Given the description of an element on the screen output the (x, y) to click on. 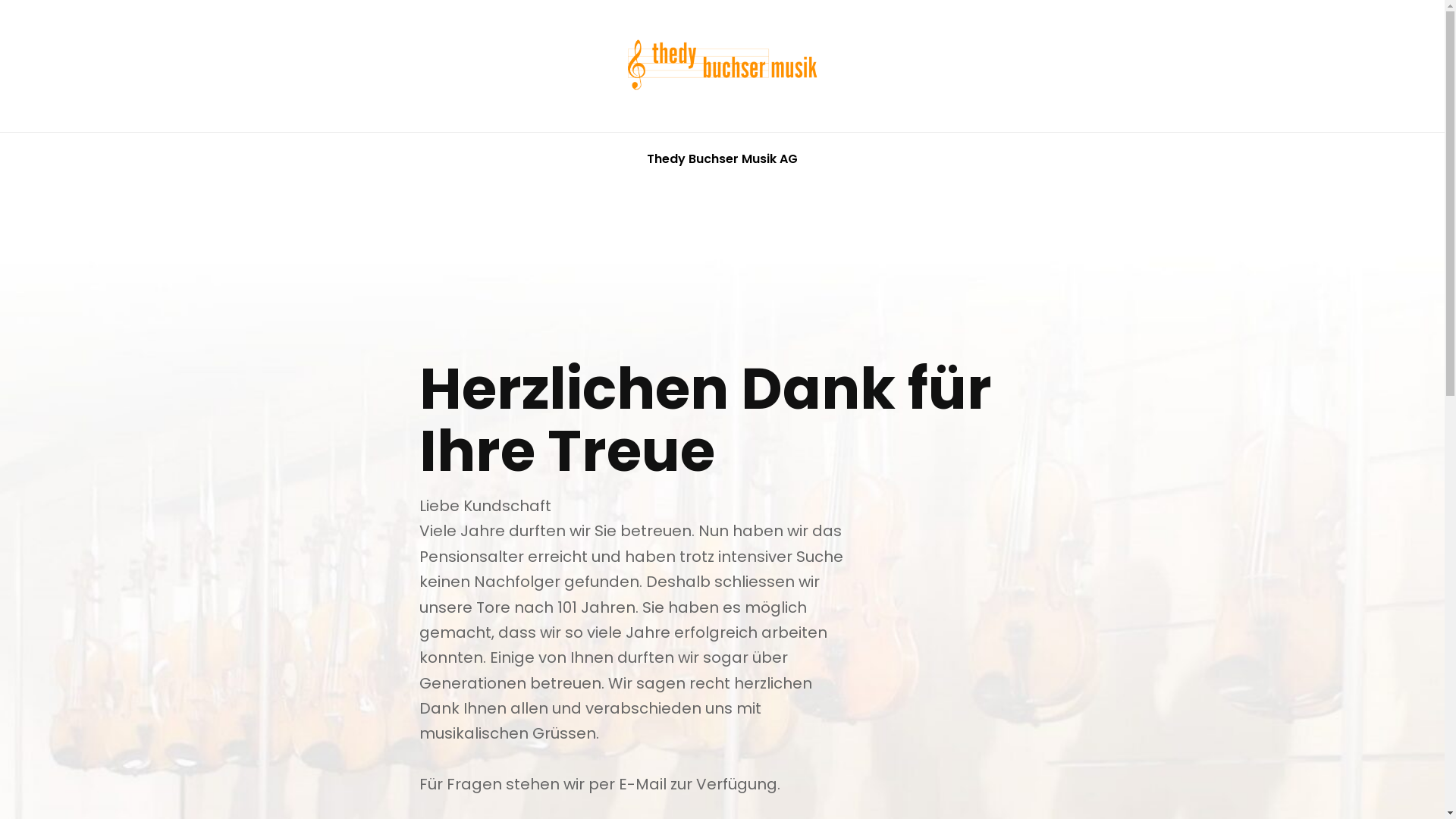
Thedy Buchser Musik AG Element type: text (722, 158)
Thedy Buchser Musik AG Element type: text (1029, 89)
